Given the description of an element on the screen output the (x, y) to click on. 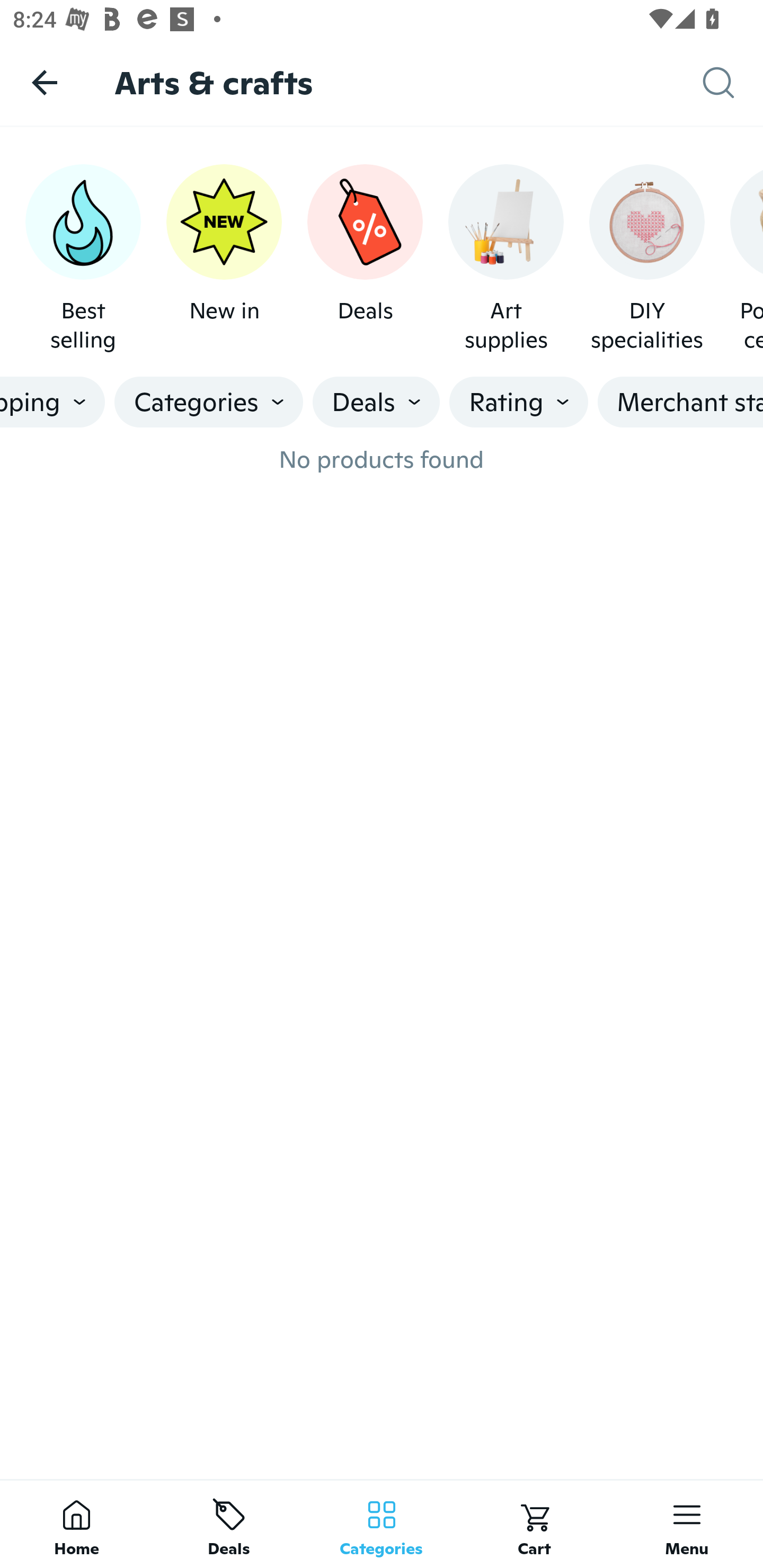
Navigate up (44, 82)
Search (732, 82)
Best selling (83, 259)
New in (223, 259)
Deals (364, 259)
Art supplies (505, 259)
DIY specialities (647, 259)
Shipping (52, 402)
Categories (208, 402)
Deals (375, 402)
Rating (518, 402)
Merchant status (680, 402)
Home (76, 1523)
Deals (228, 1523)
Categories (381, 1523)
Cart (533, 1523)
Menu (686, 1523)
